Given the description of an element on the screen output the (x, y) to click on. 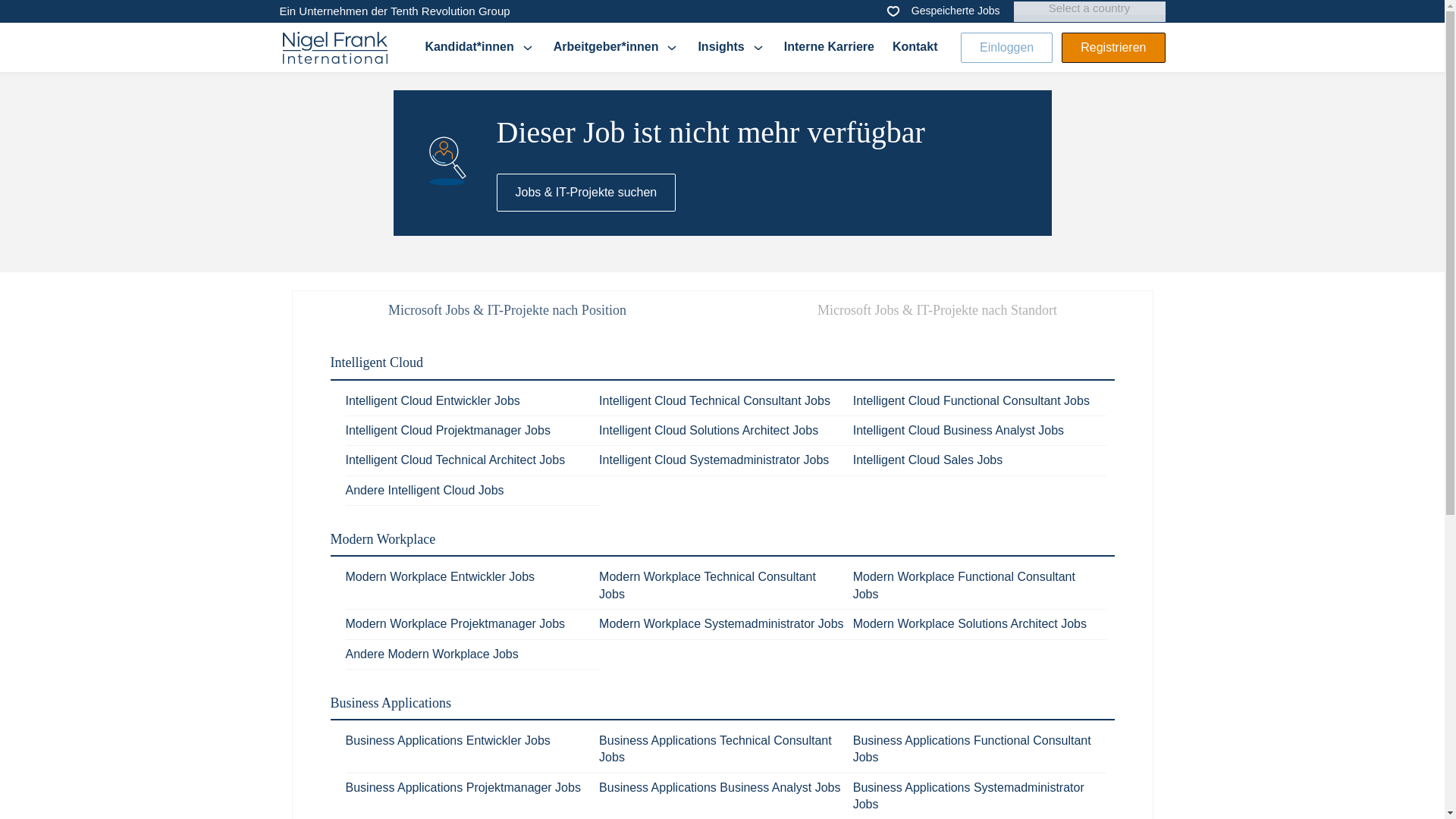
Interne Karriere (829, 47)
Insights (731, 47)
Intelligent Cloud Entwickler Jobs (432, 400)
Nigel Frank International (333, 47)
Select a country (1088, 8)
Intelligent Cloud Technical Consultant Jobs (713, 400)
Nigel Frank International (333, 47)
Kontakt (914, 47)
Gespeicherte Jobs (941, 11)
Intelligent Cloud Projektmanager Jobs (448, 430)
